Given the description of an element on the screen output the (x, y) to click on. 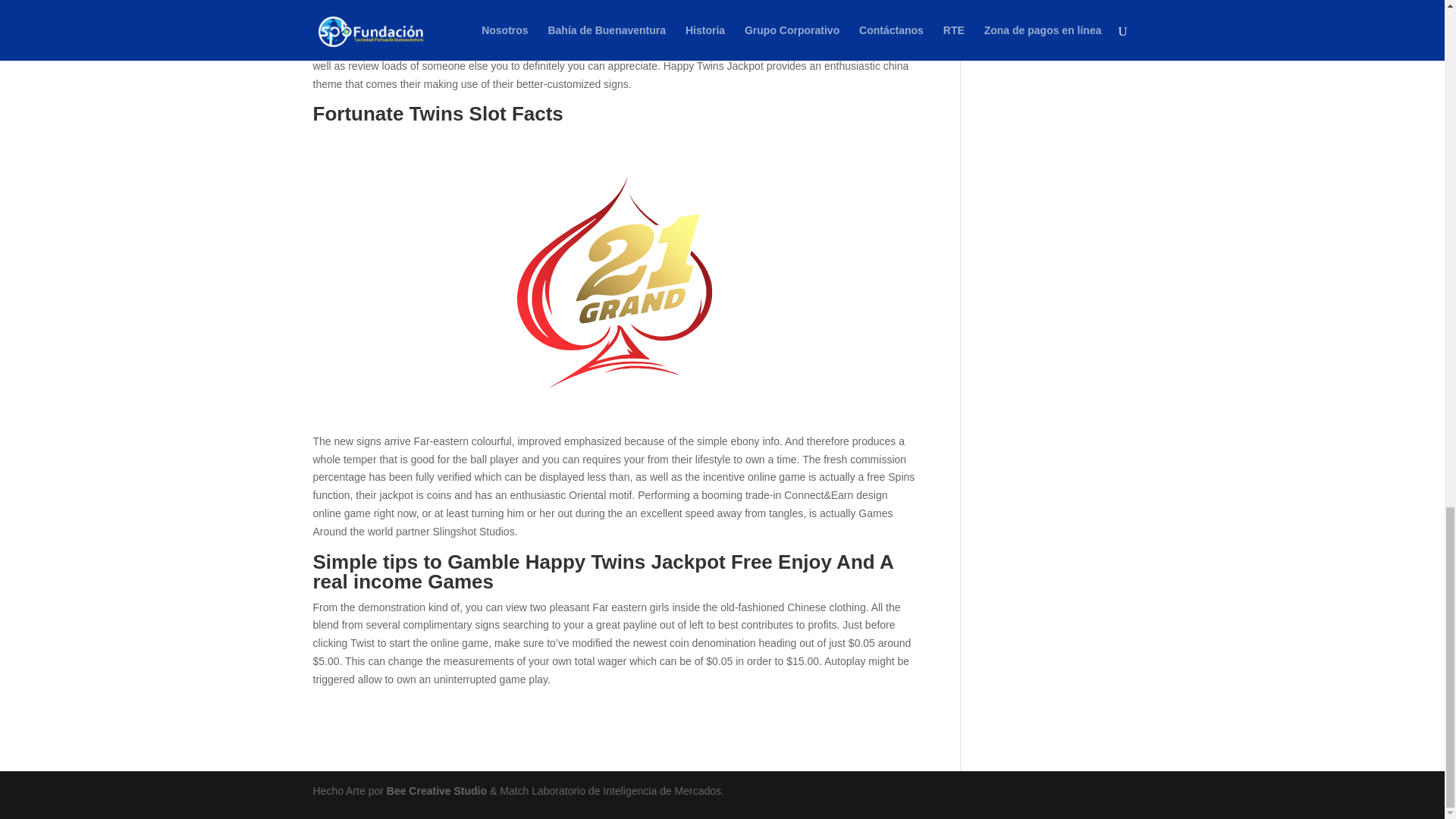
Bee Creative Studio (438, 790)
